Given the description of an element on the screen output the (x, y) to click on. 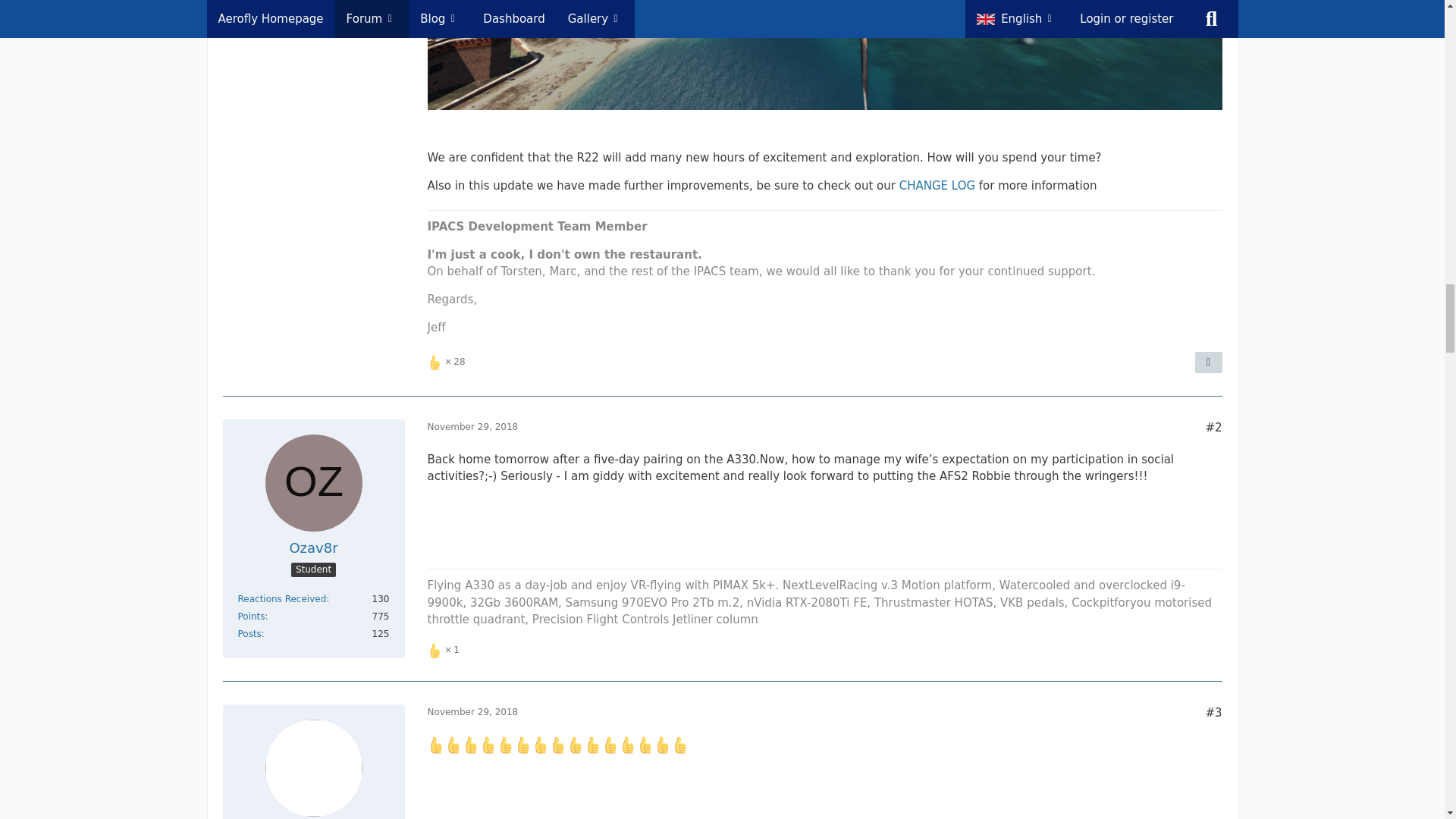
thumbup (436, 744)
